Given the description of an element on the screen output the (x, y) to click on. 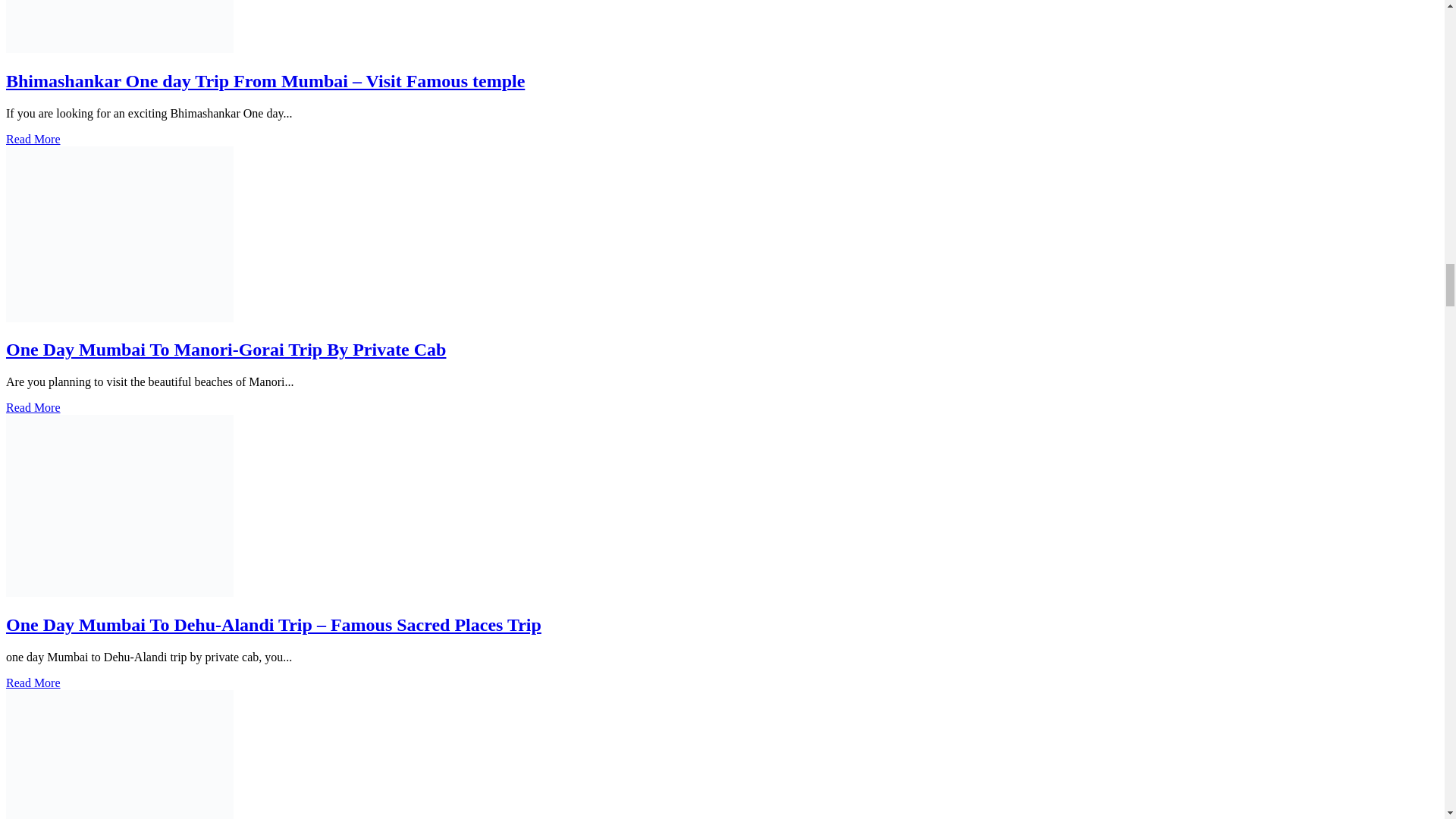
One Day Mumbai To Manori-Gorai Trip By Private Cab (225, 349)
